Given the description of an element on the screen output the (x, y) to click on. 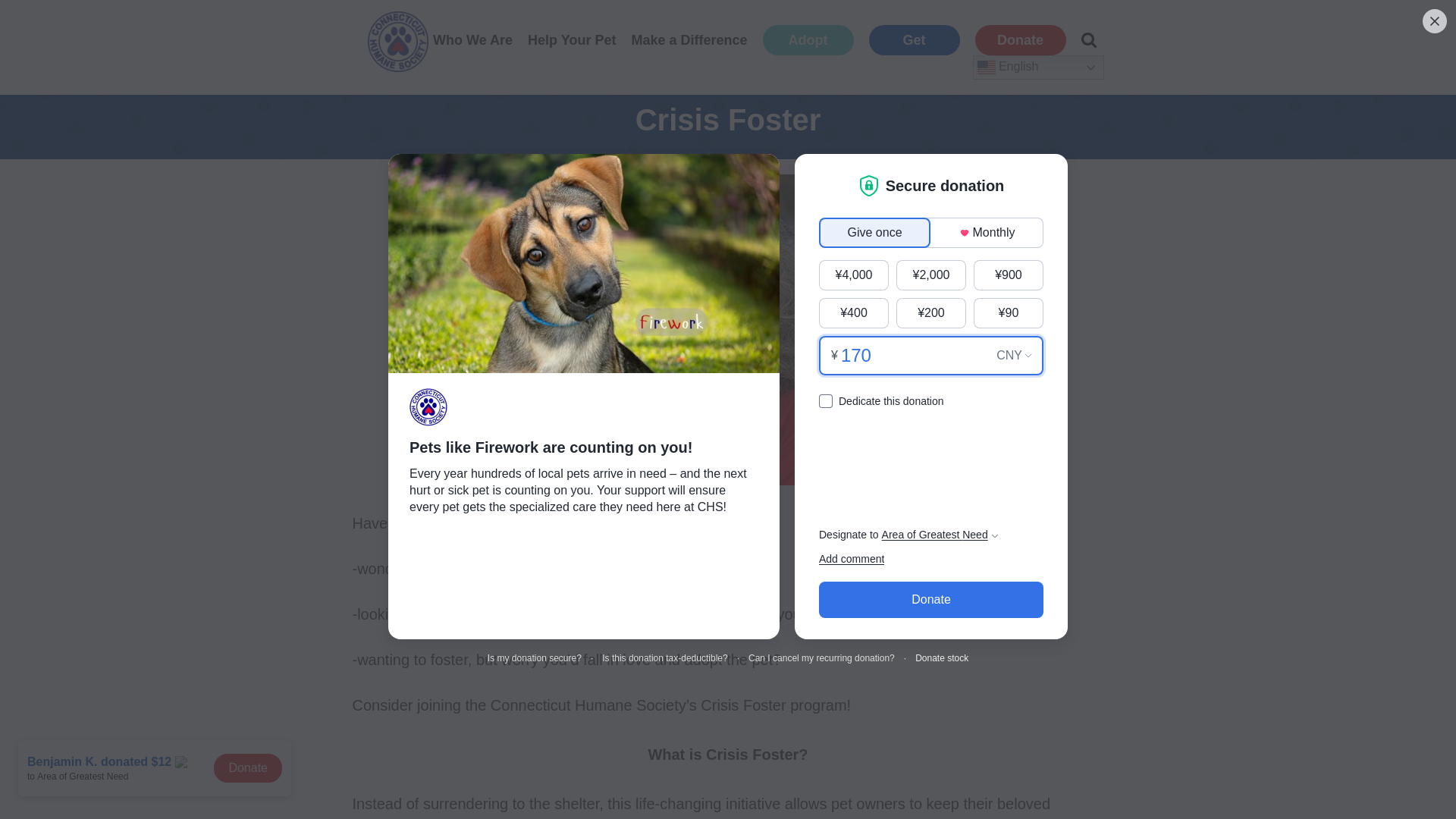
Who We Are (472, 40)
Donation Activity Popup (158, 776)
